Given the description of an element on the screen output the (x, y) to click on. 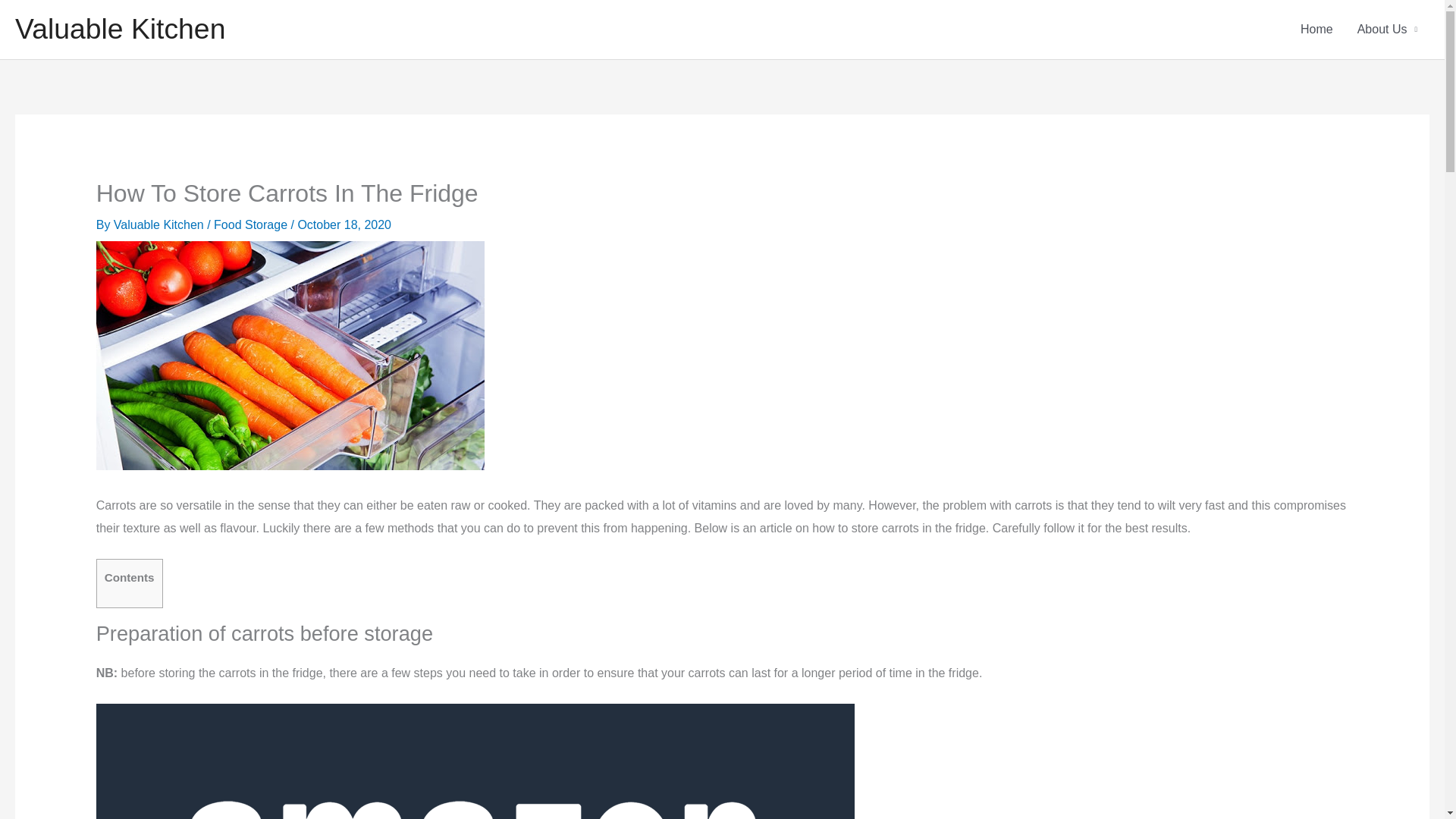
Food Storage (250, 224)
Valuable Kitchen (119, 29)
View all posts by Valuable Kitchen (159, 224)
Valuable Kitchen (159, 224)
Home (1316, 29)
About Us (1387, 29)
